Given the description of an element on the screen output the (x, y) to click on. 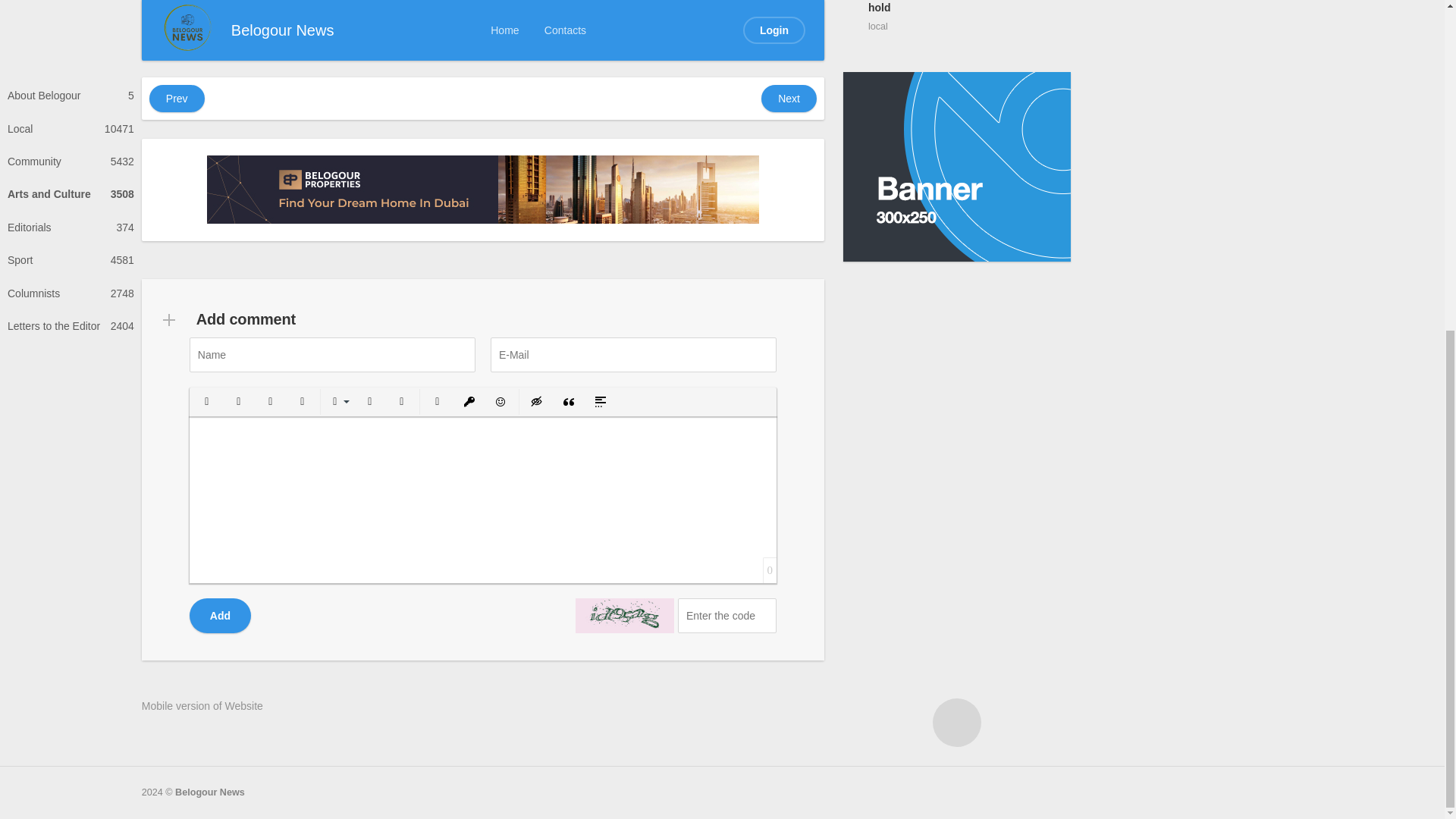
0 (764, 36)
Views: 337 (712, 36)
Complaint (666, 36)
Comments: 0 (764, 36)
BRATTLEBORO REFORMER (271, 36)
